Given the description of an element on the screen output the (x, y) to click on. 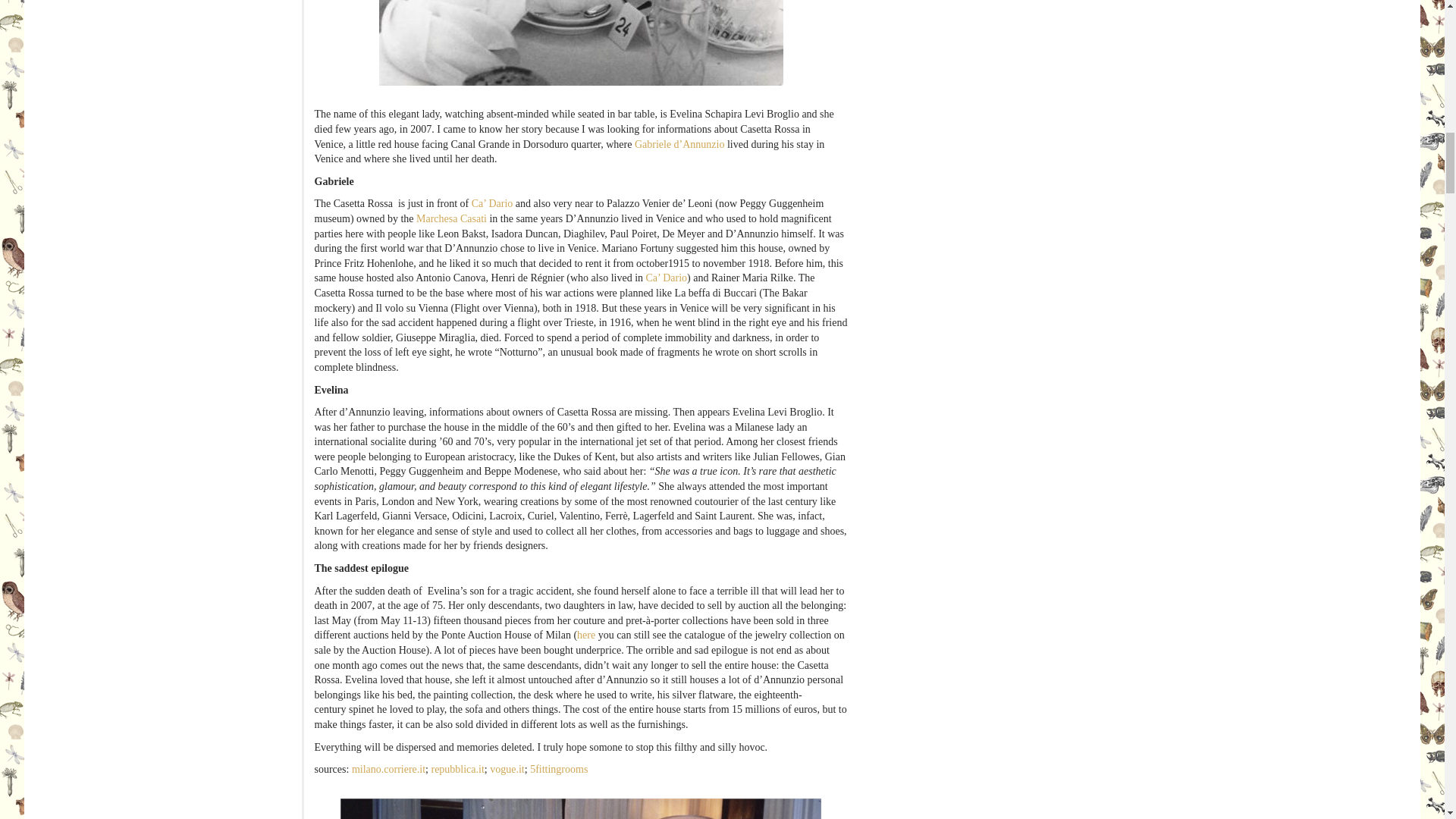
repubblica.it (456, 768)
Marchesa Casati (451, 218)
vogue.it (506, 768)
milano.corriere.it (388, 768)
here (585, 634)
